Given the description of an element on the screen output the (x, y) to click on. 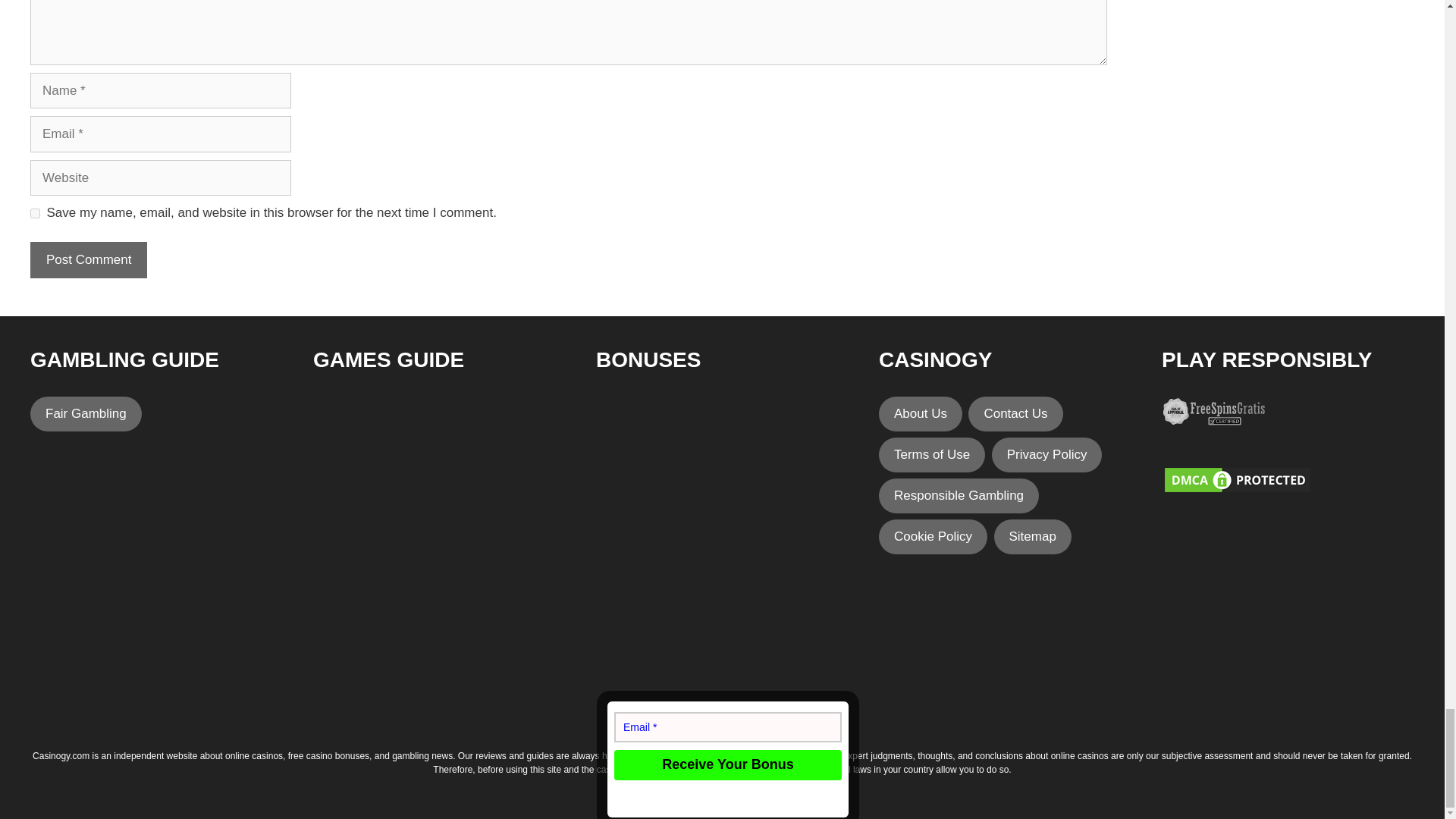
yes (35, 213)
Post Comment (88, 259)
